Given the description of an element on the screen output the (x, y) to click on. 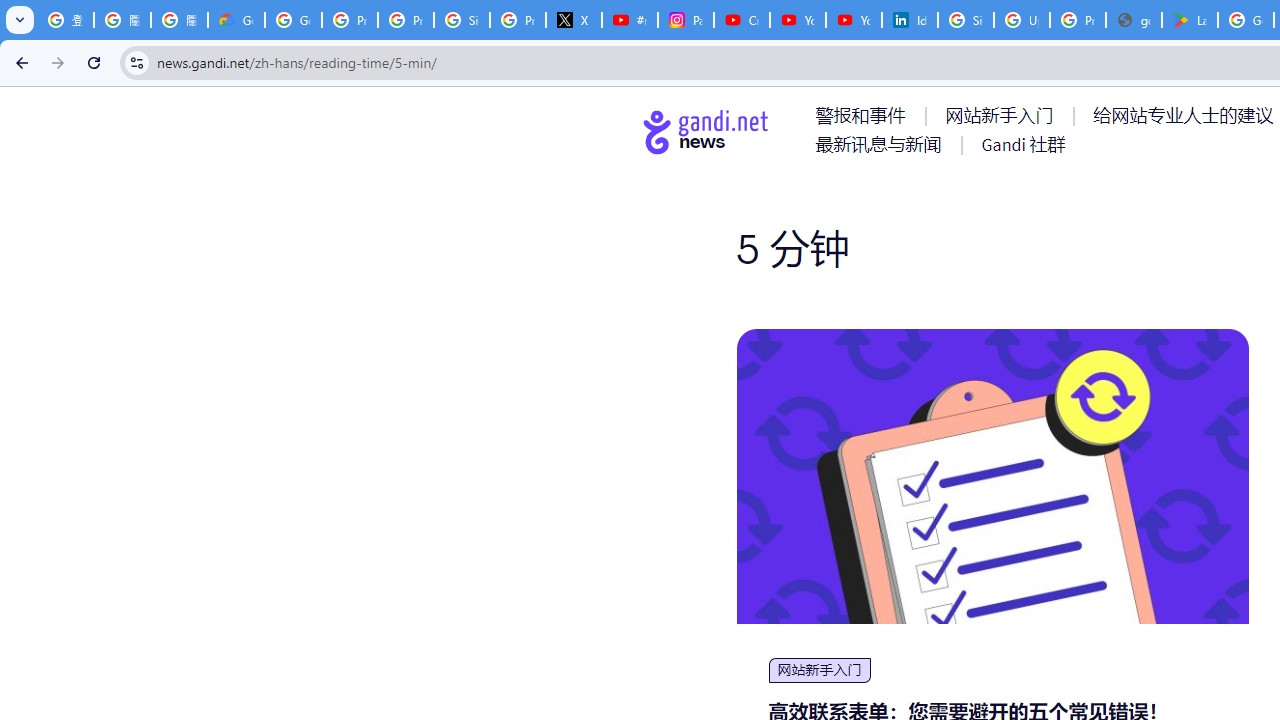
X (573, 20)
AutomationID: menu-item-77761 (863, 115)
Sign in - Google Accounts (966, 20)
Last Shelter: Survival - Apps on Google Play (1190, 20)
AutomationID: menu-item-77766 (882, 143)
Sign in - Google Accounts (461, 20)
